Given the description of an element on the screen output the (x, y) to click on. 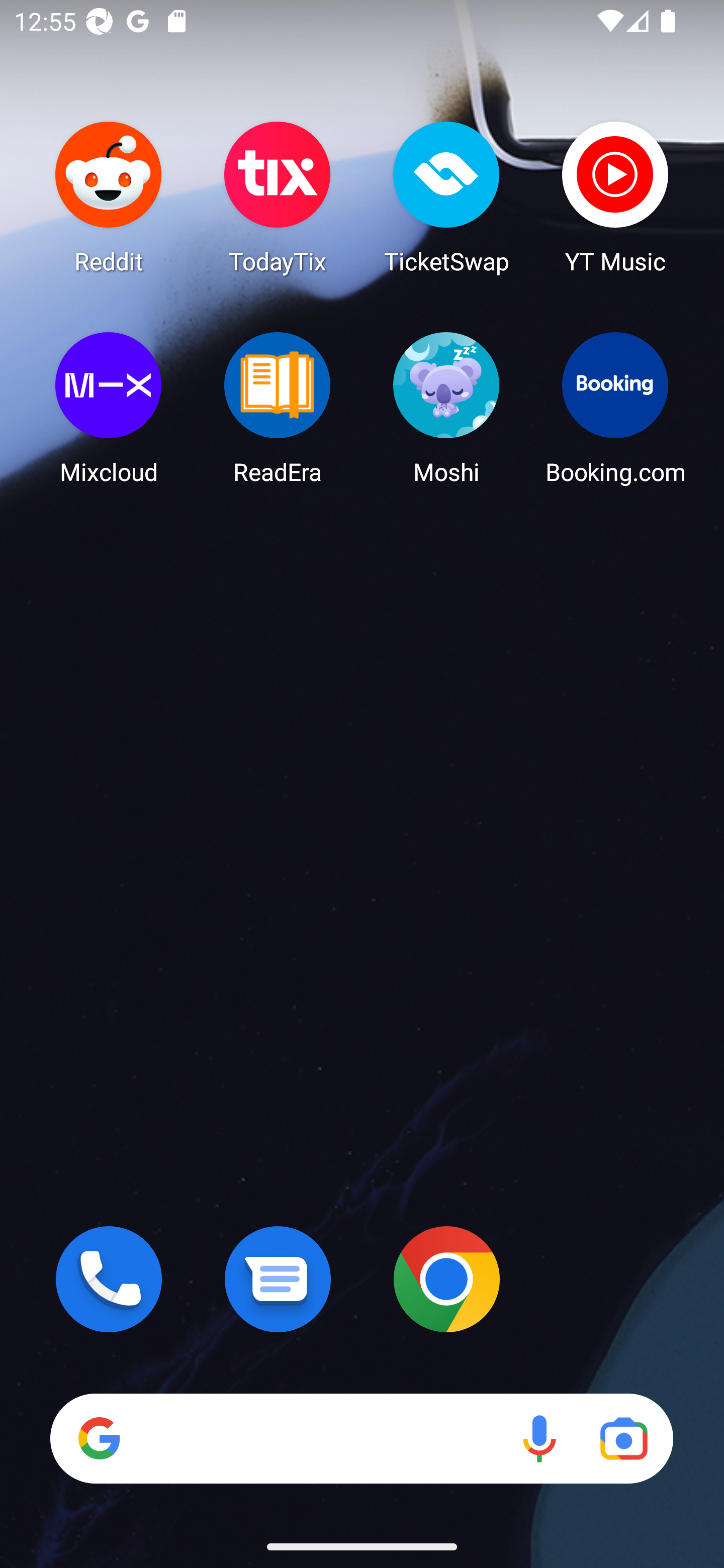
Reddit (108, 196)
TodayTix (277, 196)
TicketSwap (445, 196)
YT Music (615, 196)
Mixcloud (108, 407)
ReadEra (277, 407)
Moshi (445, 407)
Booking.com (615, 407)
Phone (108, 1279)
Messages (277, 1279)
Chrome (446, 1279)
Search Voice search Google Lens (361, 1438)
Voice search (539, 1438)
Google Lens (623, 1438)
